Given the description of an element on the screen output the (x, y) to click on. 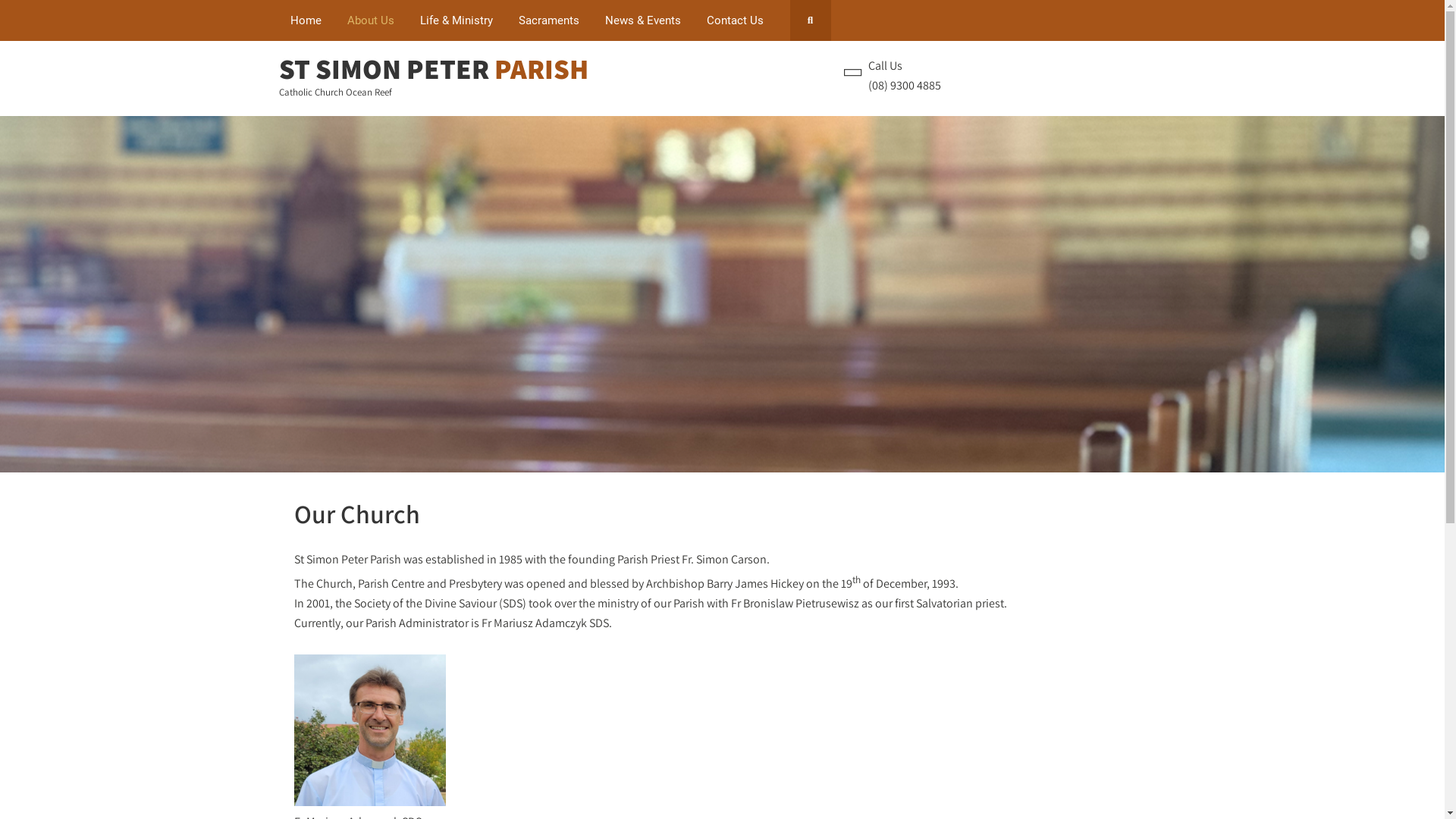
News & Events Element type: text (642, 20)
Contact Us Element type: text (734, 20)
Sacraments Element type: text (547, 20)
Home Element type: text (305, 20)
Life & Ministry Element type: text (455, 20)
ST SIMON PETER PARISH Element type: text (433, 68)
About Us Element type: text (369, 20)
